Given the description of an element on the screen output the (x, y) to click on. 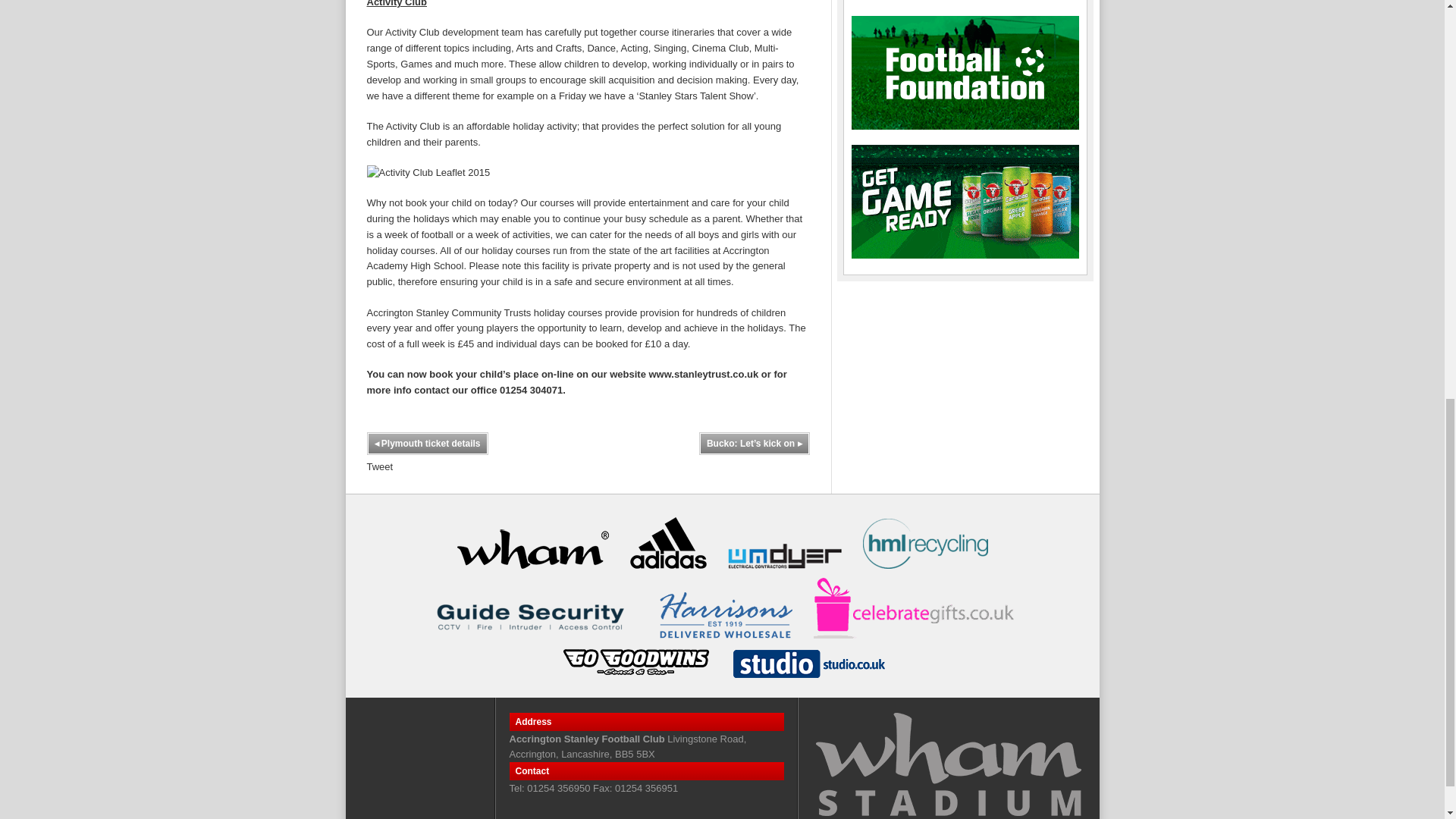
WM Dyer (784, 555)
Harrisons (725, 614)
HML (925, 543)
Guide Security (532, 616)
Studio (807, 663)
Wham (532, 546)
Go Goodwins (635, 662)
Celebrate Gifts (915, 607)
Adidas (667, 542)
